Given the description of an element on the screen output the (x, y) to click on. 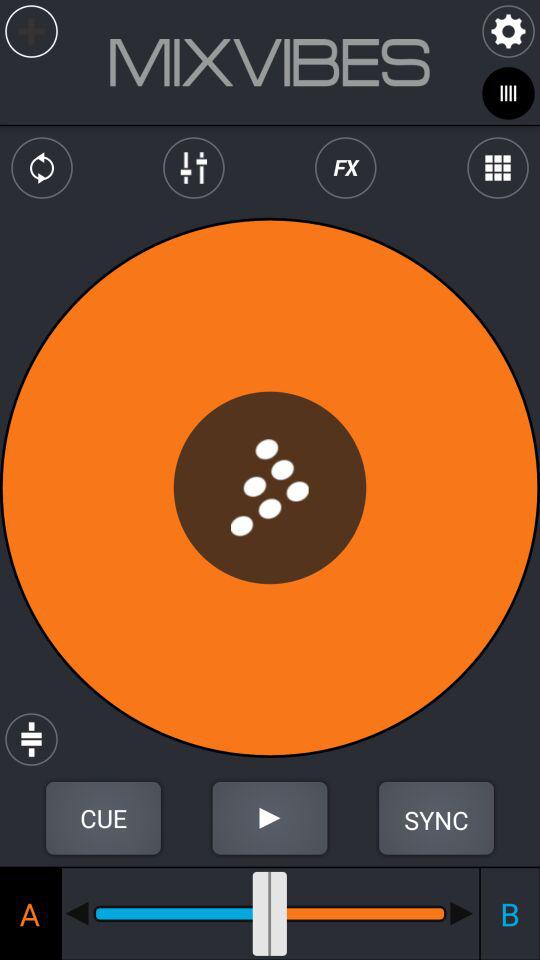
volume controls (193, 167)
